Given the description of an element on the screen output the (x, y) to click on. 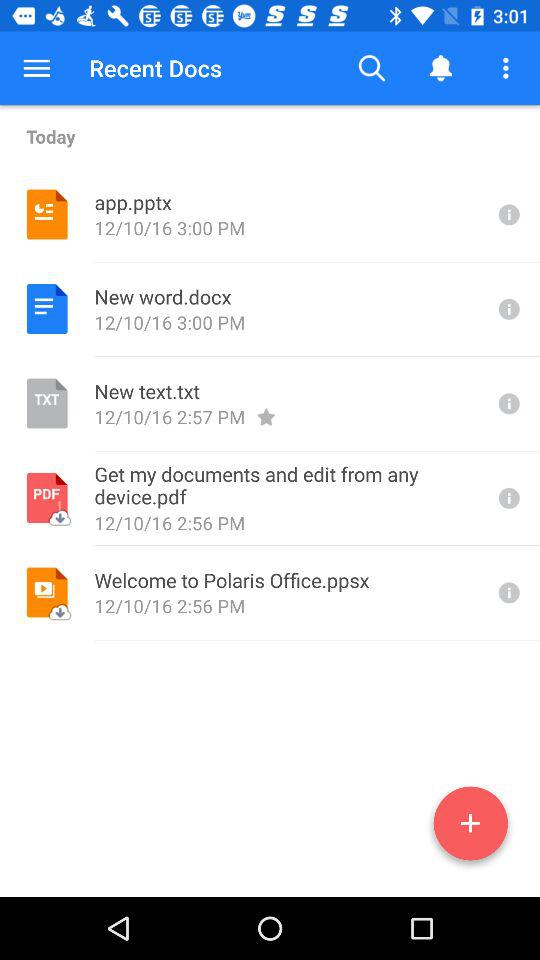
displays more information (507, 592)
